Given the description of an element on the screen output the (x, y) to click on. 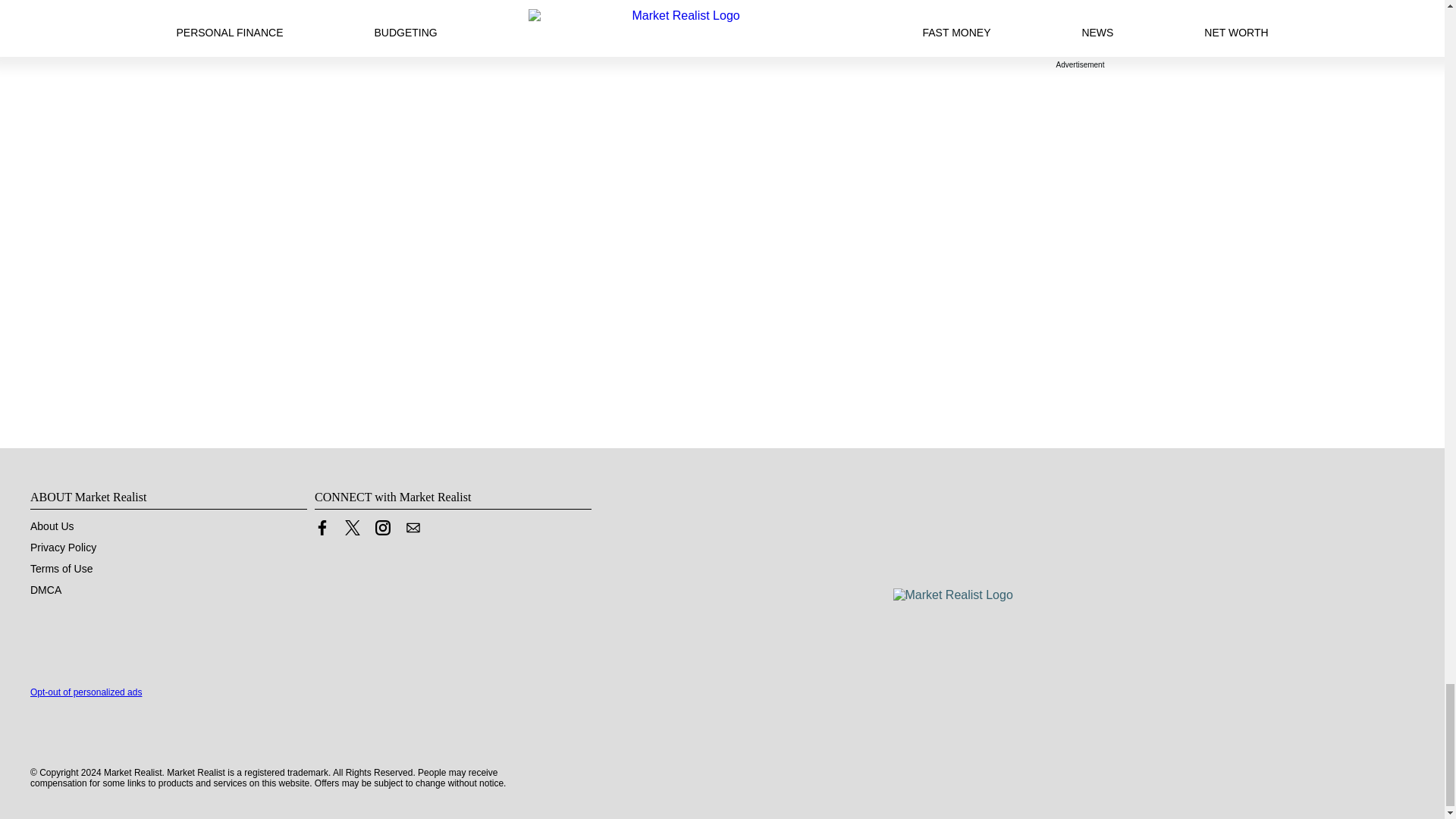
About Us (52, 526)
Contact us by Email (413, 527)
Link to X (352, 527)
About Us (52, 526)
Link to Instagram (382, 527)
DMCA (45, 589)
Privacy Policy (63, 547)
Privacy Policy (63, 547)
Terms of Use (61, 568)
Link to Facebook (322, 527)
Link to Instagram (382, 531)
Opt-out of personalized ads (85, 692)
Contact us by Email (413, 531)
Link to Facebook (322, 531)
DMCA (45, 589)
